Given the description of an element on the screen output the (x, y) to click on. 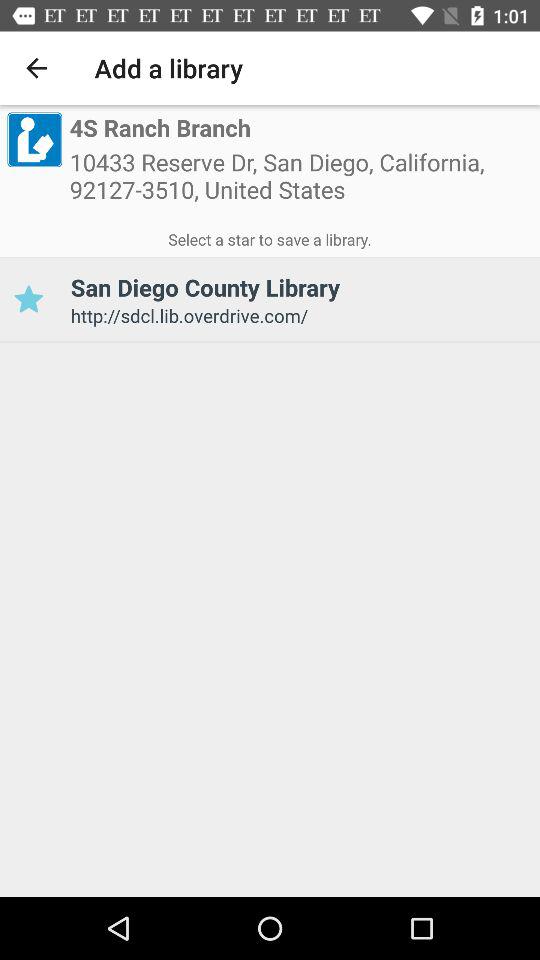
flip to the 4s ranch branch item (159, 128)
